Given the description of an element on the screen output the (x, y) to click on. 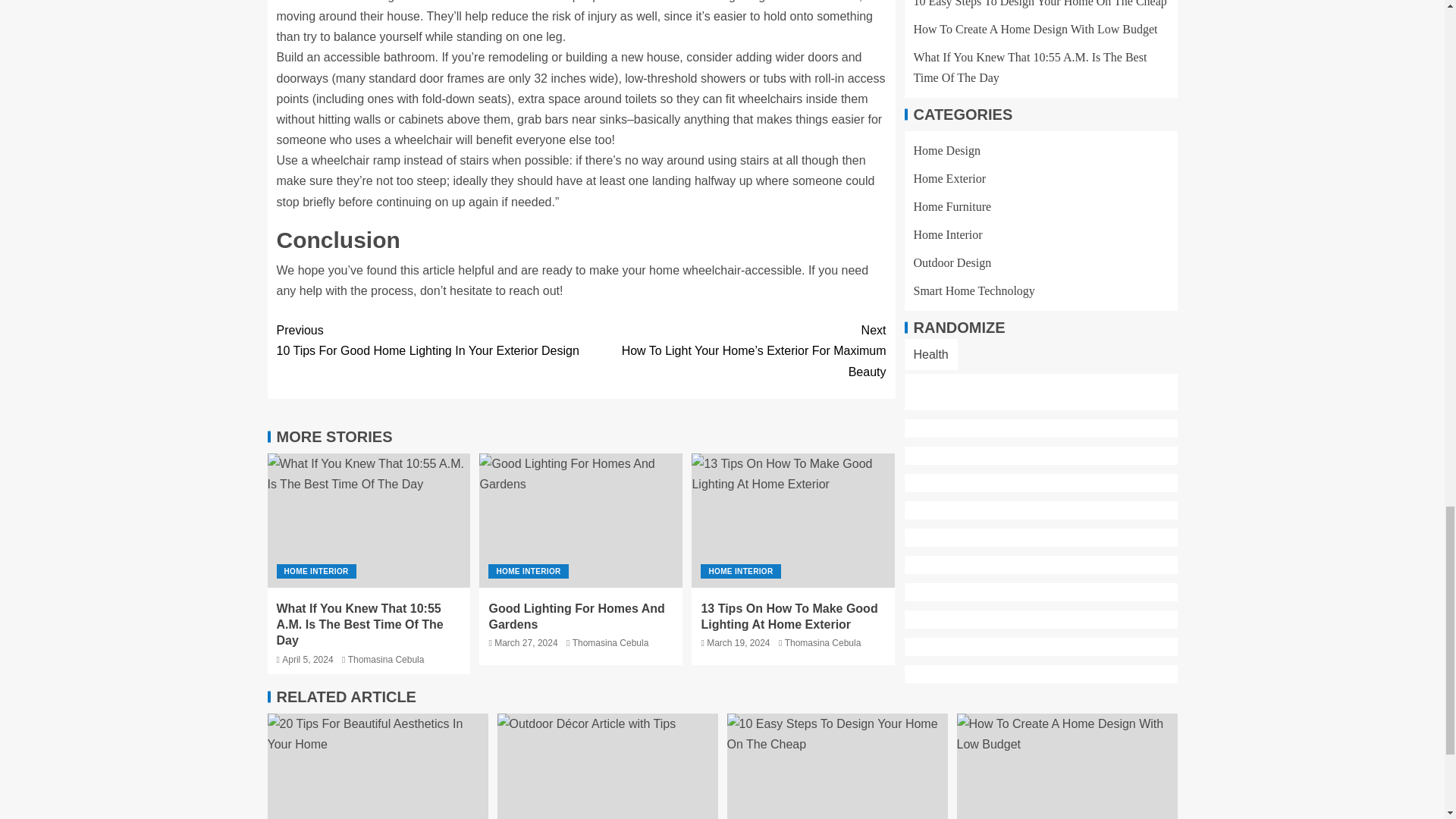
13 Tips On How To Make Good Lighting At Home Exterior (793, 520)
What If You Knew That 10:55 A.M. Is The Best Time Of The Day (368, 520)
HOME INTERIOR (315, 571)
Good Lighting For Homes And Gardens (580, 520)
